Given the description of an element on the screen output the (x, y) to click on. 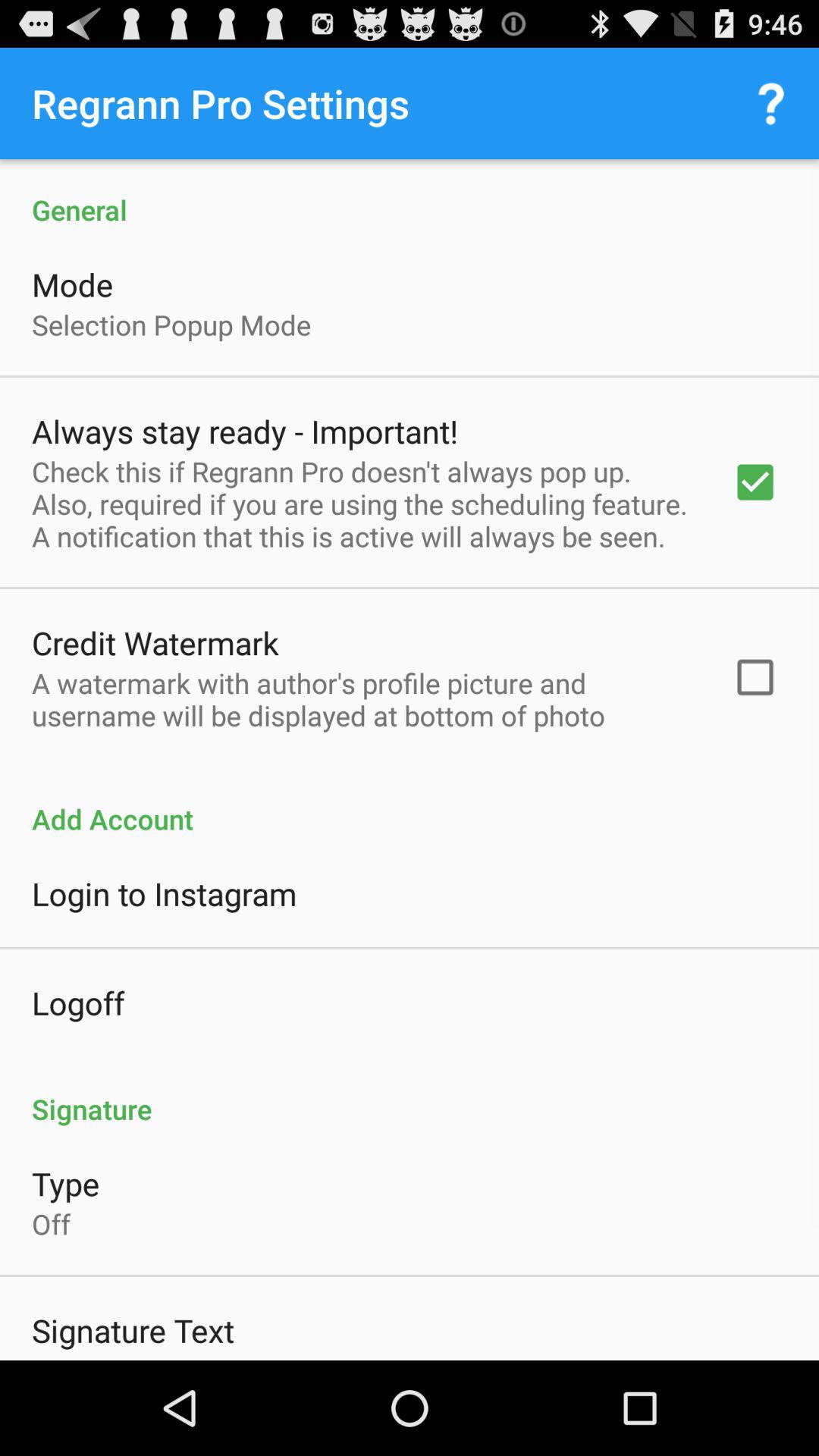
jump until the add account (409, 802)
